Given the description of an element on the screen output the (x, y) to click on. 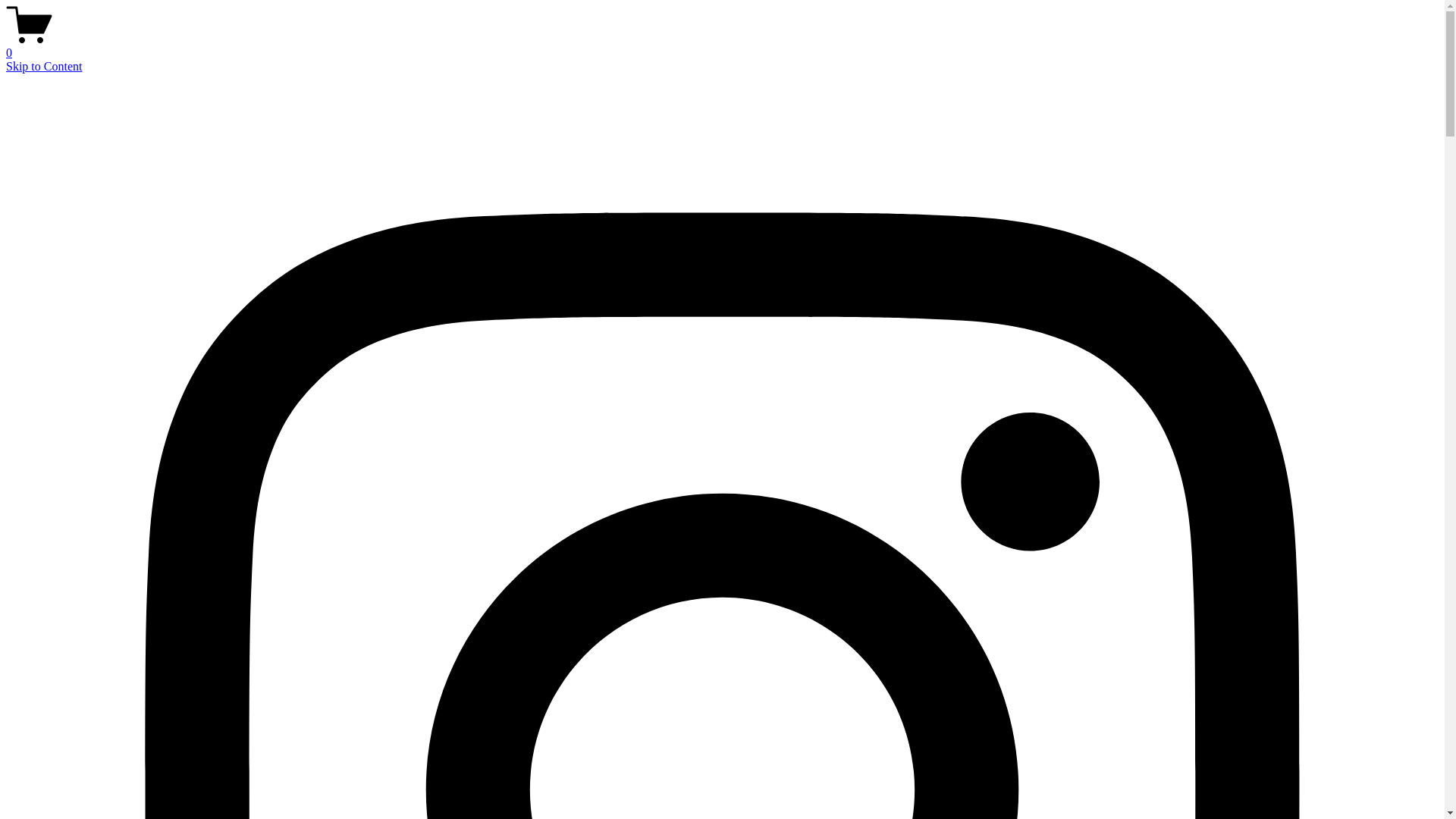
0 Element type: text (722, 45)
Skip to Content Element type: text (43, 65)
